Given the description of an element on the screen output the (x, y) to click on. 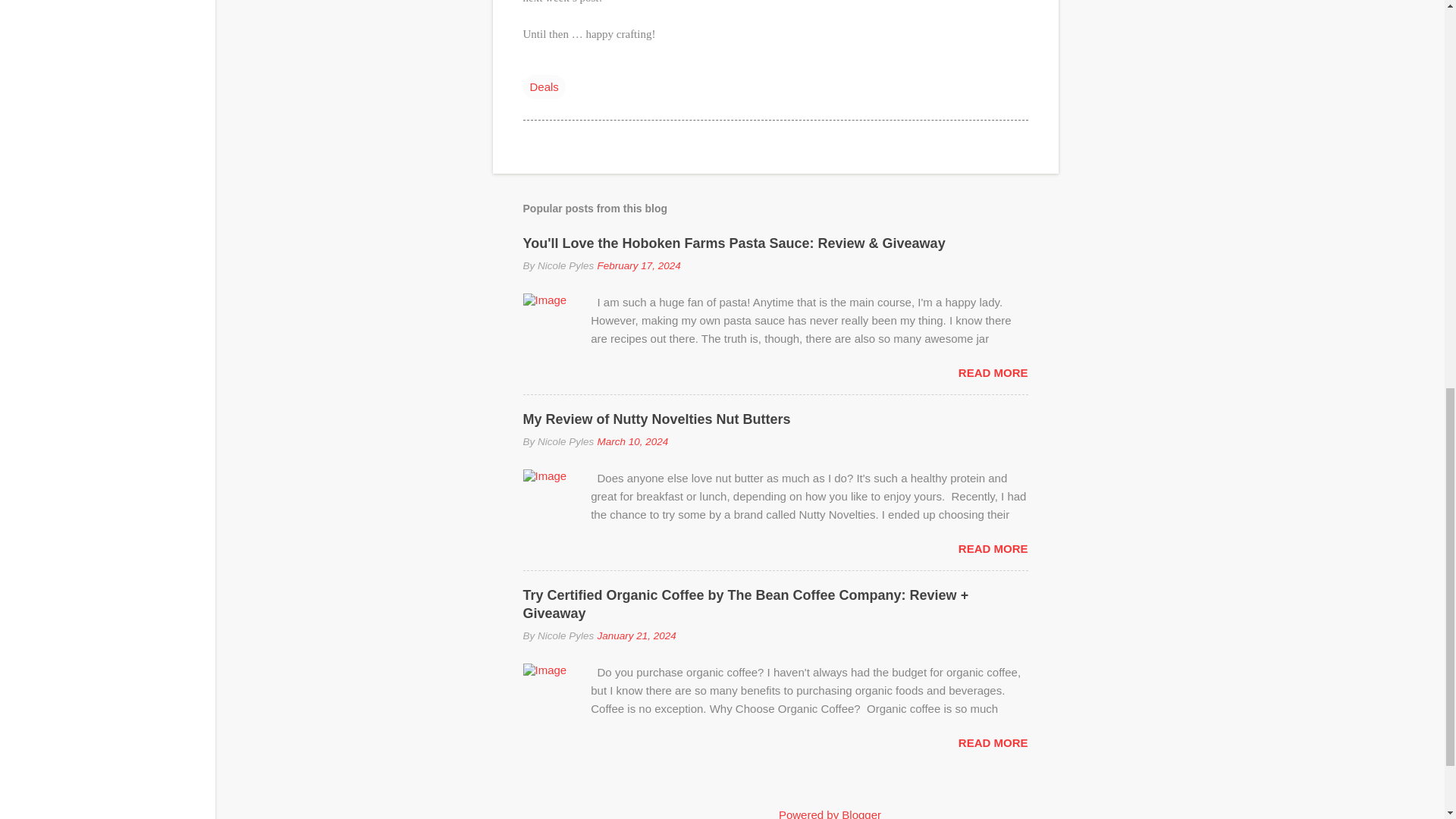
January 21, 2024 (635, 635)
permanent link (637, 265)
READ MORE (992, 548)
My Review of Nutty Novelties Nut Butters (656, 418)
READ MORE (992, 372)
March 10, 2024 (632, 441)
Deals (544, 86)
READ MORE (992, 742)
February 17, 2024 (637, 265)
Powered by Blogger (829, 813)
